Given the description of an element on the screen output the (x, y) to click on. 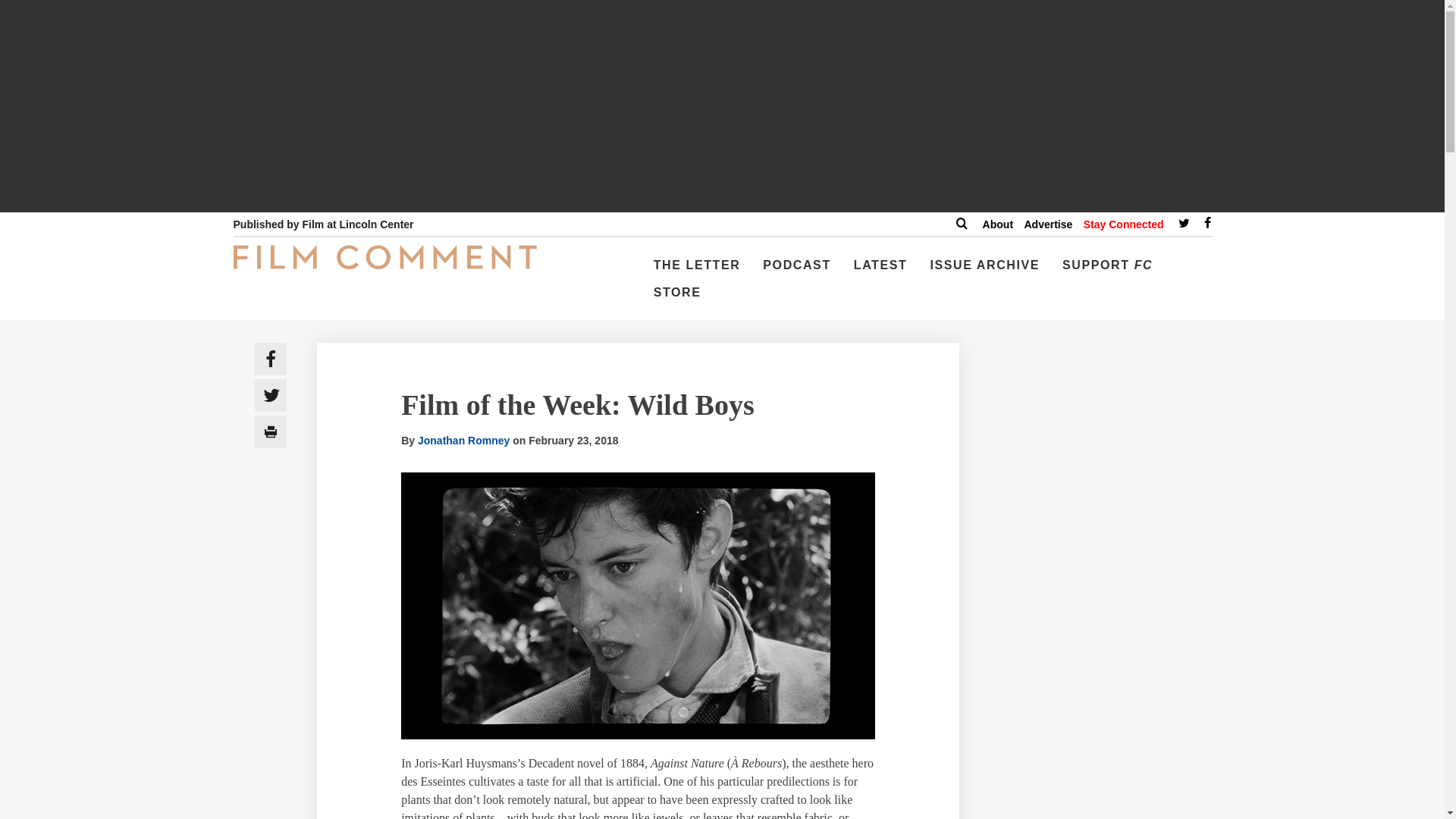
Jonathan Romney (463, 440)
LATEST (880, 271)
THE LETTER (697, 271)
3rd party ad content (1103, 642)
Published by Film at Lincoln Center (322, 224)
PODCAST (796, 271)
Advertise (1047, 224)
STORE (677, 298)
3rd party ad content (1103, 785)
About (997, 224)
Stay Connected (1123, 224)
ISSUE ARCHIVE (983, 271)
SUPPORT FC (1107, 271)
